Given the description of an element on the screen output the (x, y) to click on. 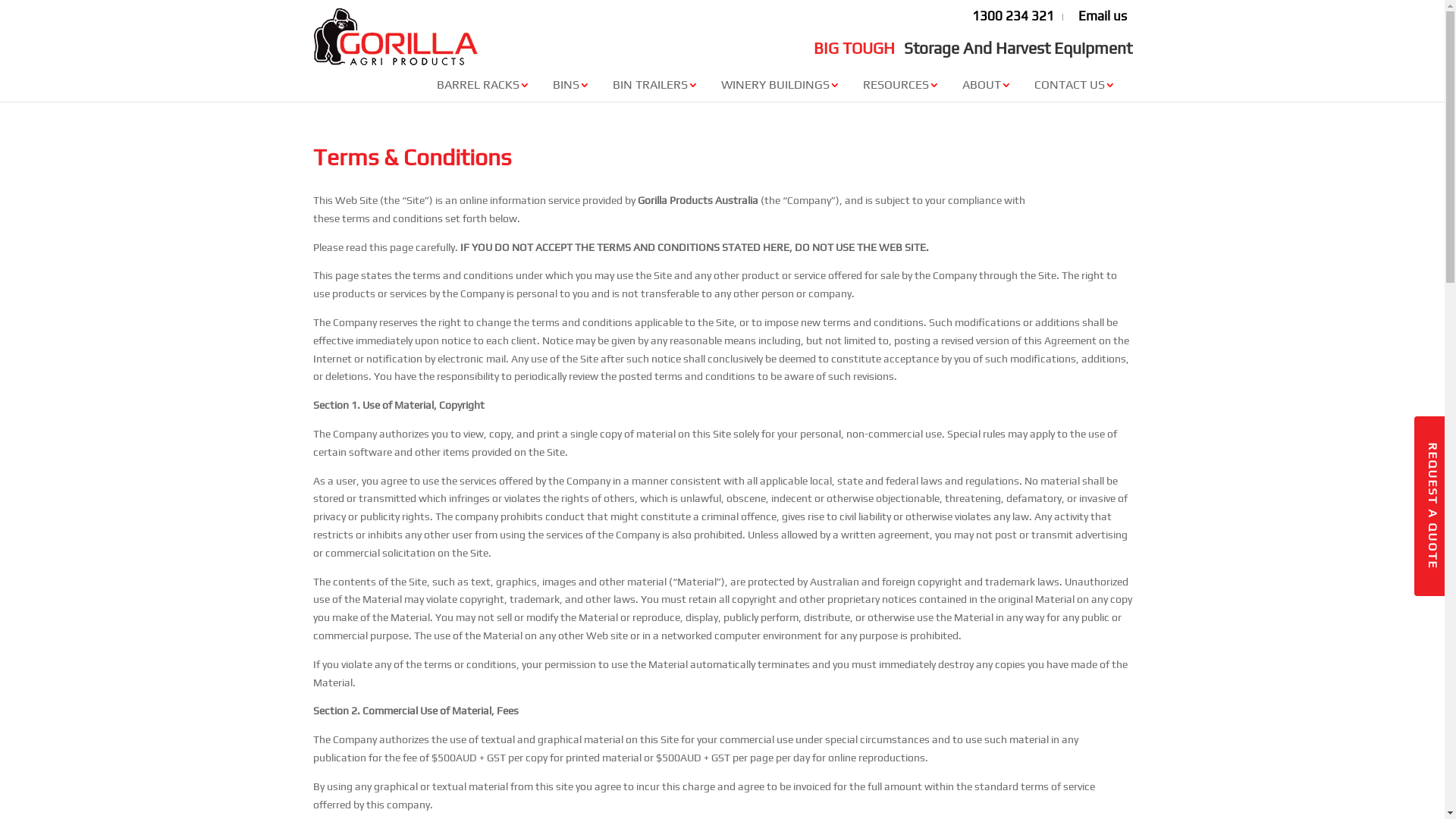
CONTACT US Element type: text (1076, 86)
BINS Element type: text (572, 86)
ABOUT Element type: text (988, 86)
REQUEST A QUOTE Element type: text (1432, 506)
RESOURCES Element type: text (902, 86)
BIN TRAILERS Element type: text (657, 86)
1300 234 321 Element type: text (1013, 15)
WINERY BUILDINGS Element type: text (782, 86)
Email us Element type: text (1102, 15)
BARREL RACKS Element type: text (484, 86)
